Given the description of an element on the screen output the (x, y) to click on. 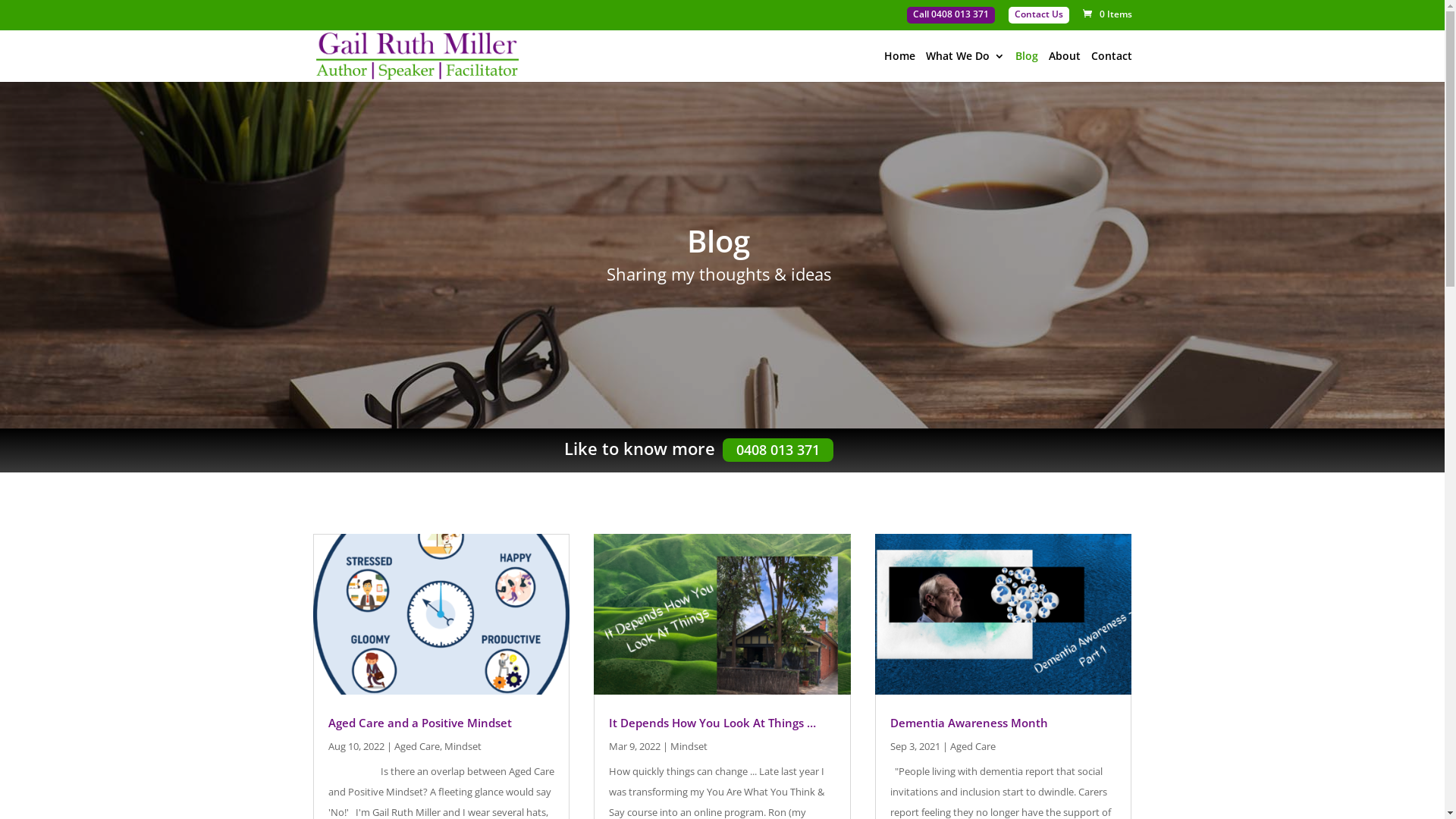
Dementia Awareness Month Element type: text (969, 722)
Blog Element type: text (1025, 65)
Aged Care Element type: text (972, 746)
About Element type: text (1063, 65)
Aged Care Element type: text (416, 746)
Contact Us Element type: text (1038, 14)
0408 013 371 Element type: text (776, 449)
Mindset Element type: text (688, 746)
0 Items Element type: text (1105, 13)
Call 0408 013 371 Element type: text (950, 14)
Aged Care and a Positive Mindset Element type: text (419, 722)
Home Element type: text (899, 65)
What We Do Element type: text (964, 65)
Contact Element type: text (1110, 65)
Mindset Element type: text (462, 746)
